Given the description of an element on the screen output the (x, y) to click on. 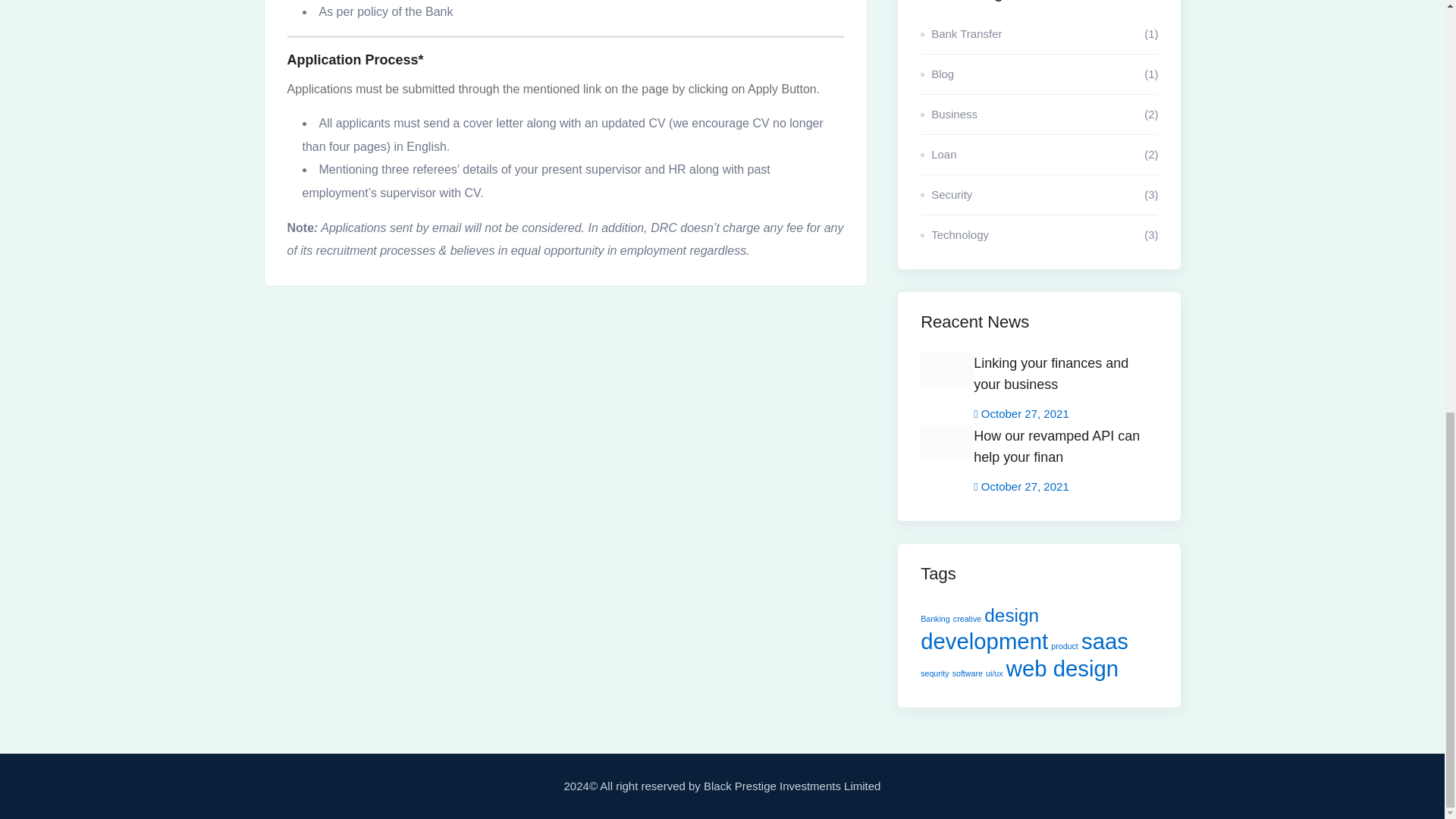
Linking your finances and your business (1065, 377)
Linking your finances and your business (1065, 377)
How our revamped API can help your finances (1065, 450)
